Given the description of an element on the screen output the (x, y) to click on. 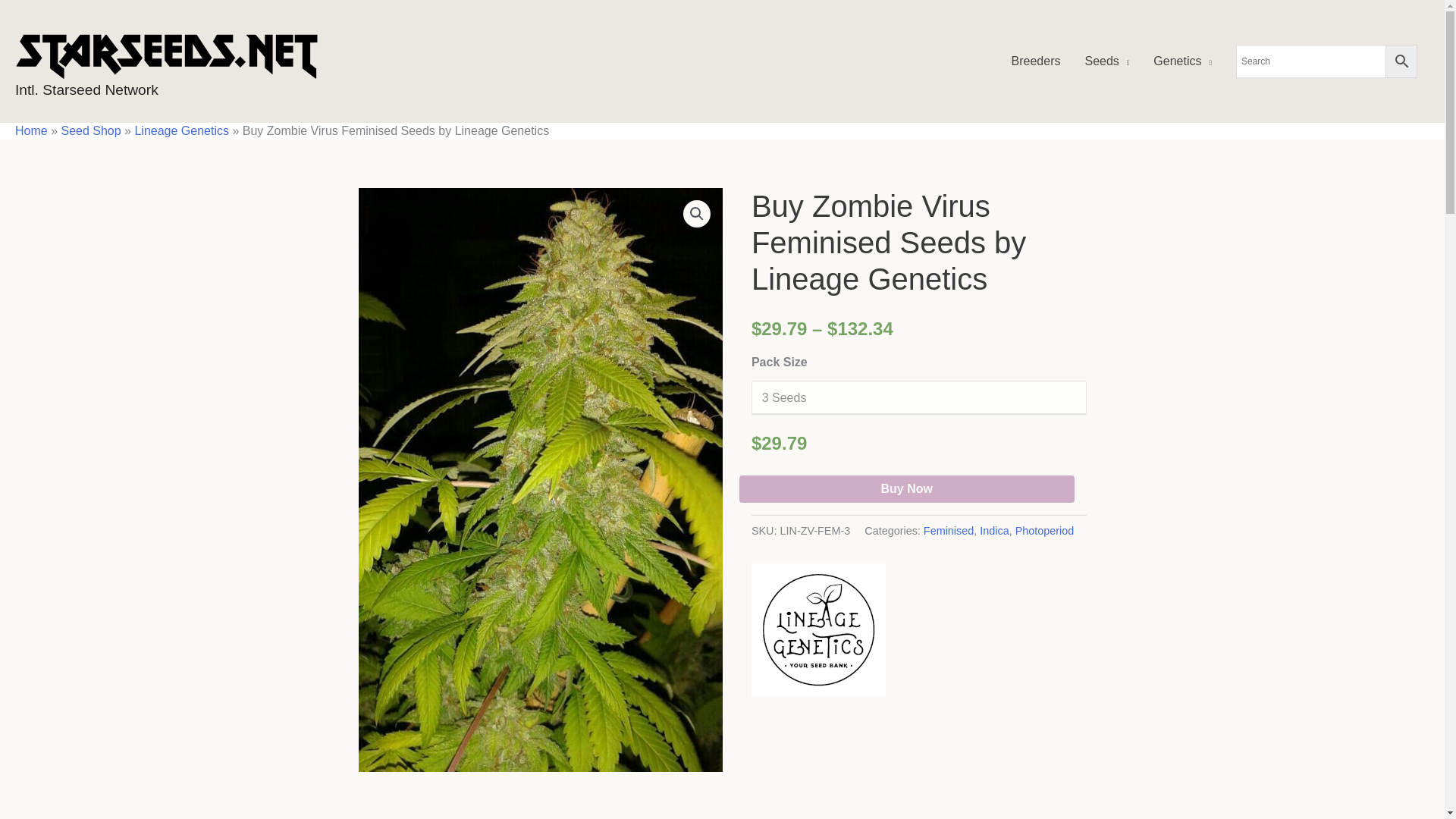
Indica (994, 530)
Intl. Starseed Network (86, 89)
Seeds (1106, 60)
Seed Shop (90, 130)
Buy Now (906, 488)
Home (31, 130)
Breeders (1035, 60)
Lineage Genetics (180, 130)
Photoperiod (1044, 530)
Lineage Genetics (818, 629)
Genetics (1182, 60)
Feminised (948, 530)
